Given the description of an element on the screen output the (x, y) to click on. 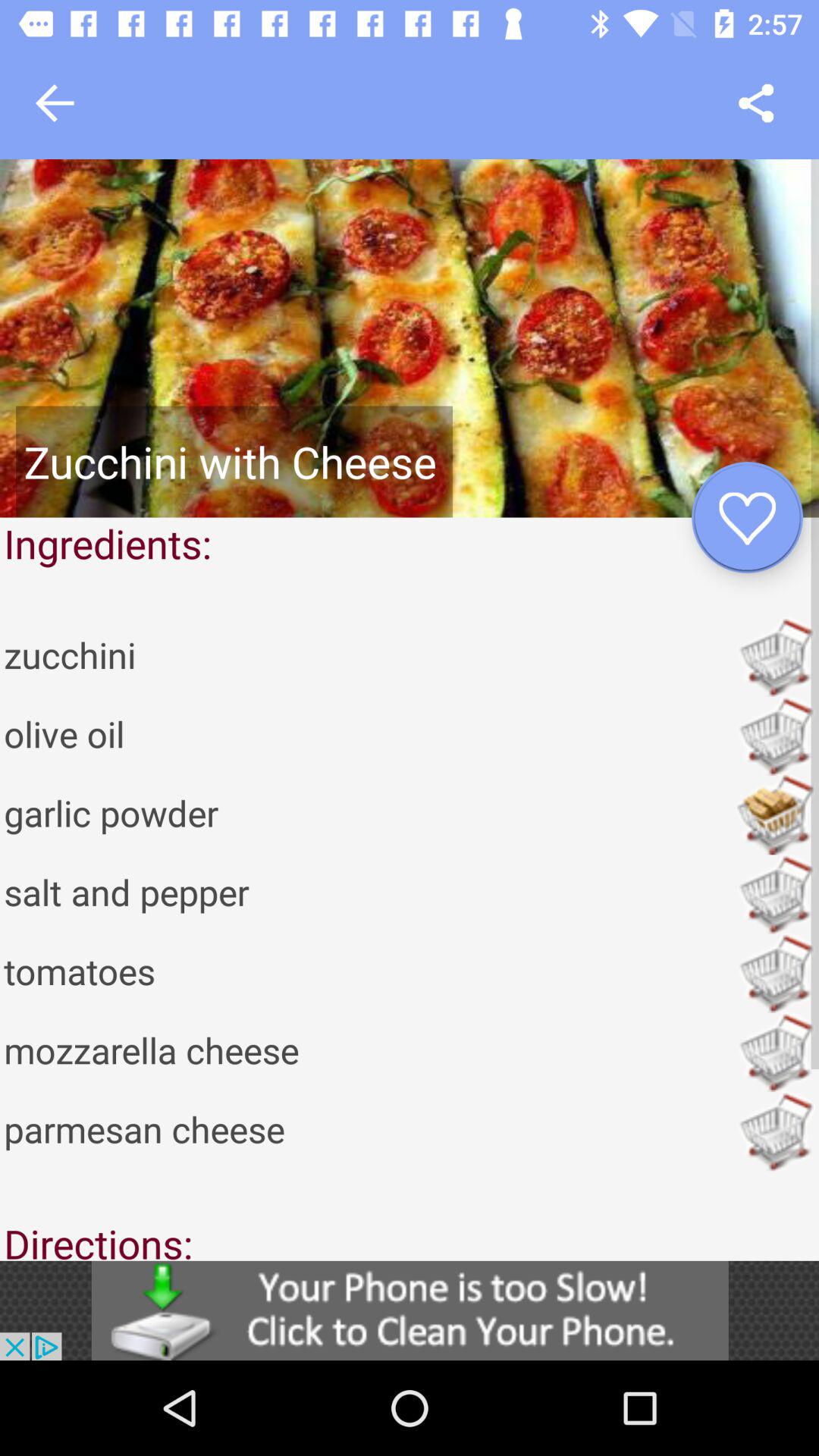
this is an interactive advertisement (409, 1310)
